Given the description of an element on the screen output the (x, y) to click on. 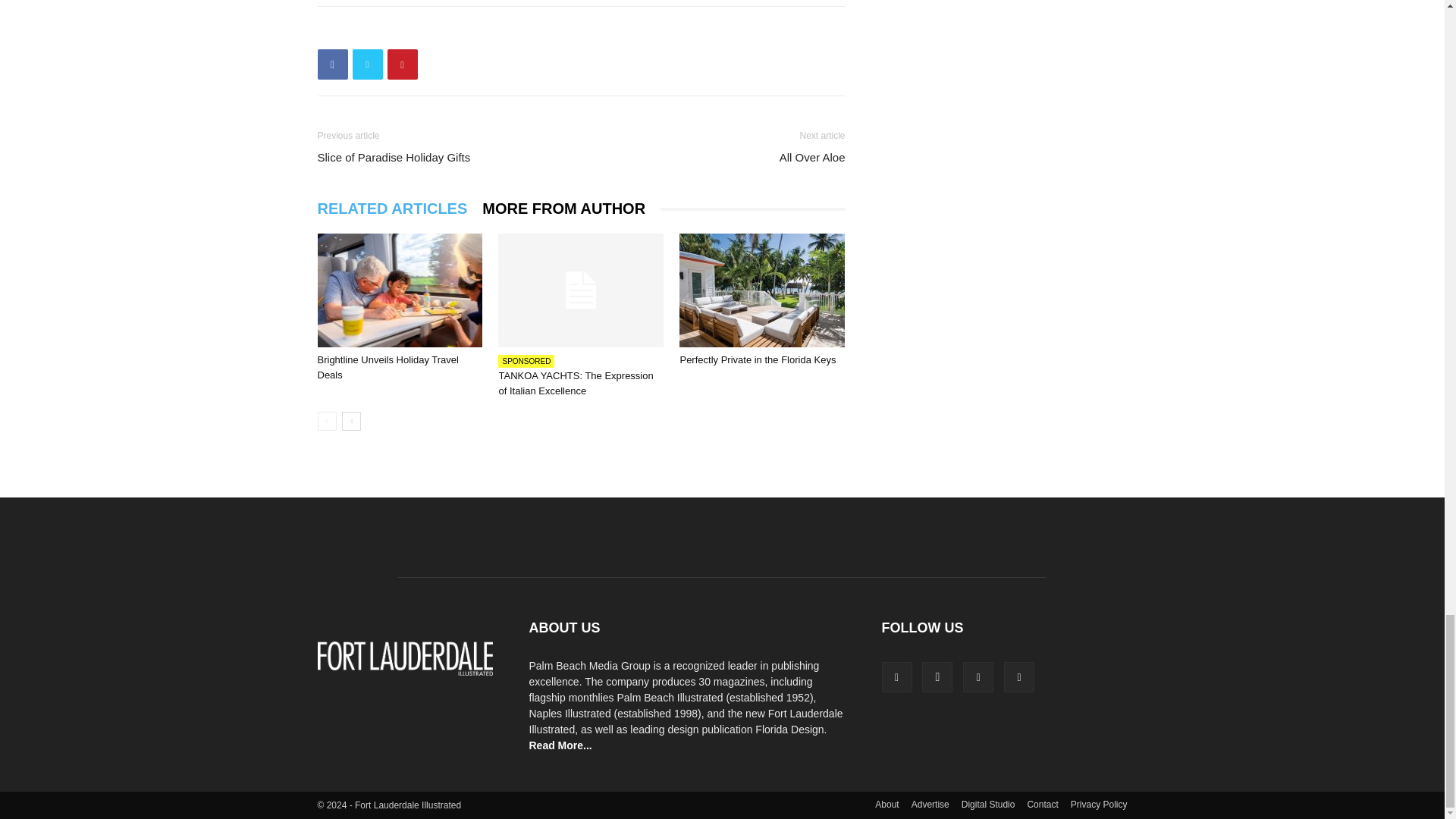
Brightline Unveils Holiday Travel Deals (399, 290)
TANKOA YACHTS: The Expression of Italian Excellence (574, 383)
Brightline Unveils Holiday Travel Deals (387, 366)
Perfectly Private in the Florida Keys (757, 359)
TANKOA YACHTS: The Expression of Italian Excellence (580, 290)
Perfectly Private in the Florida Keys (761, 290)
